Given the description of an element on the screen output the (x, y) to click on. 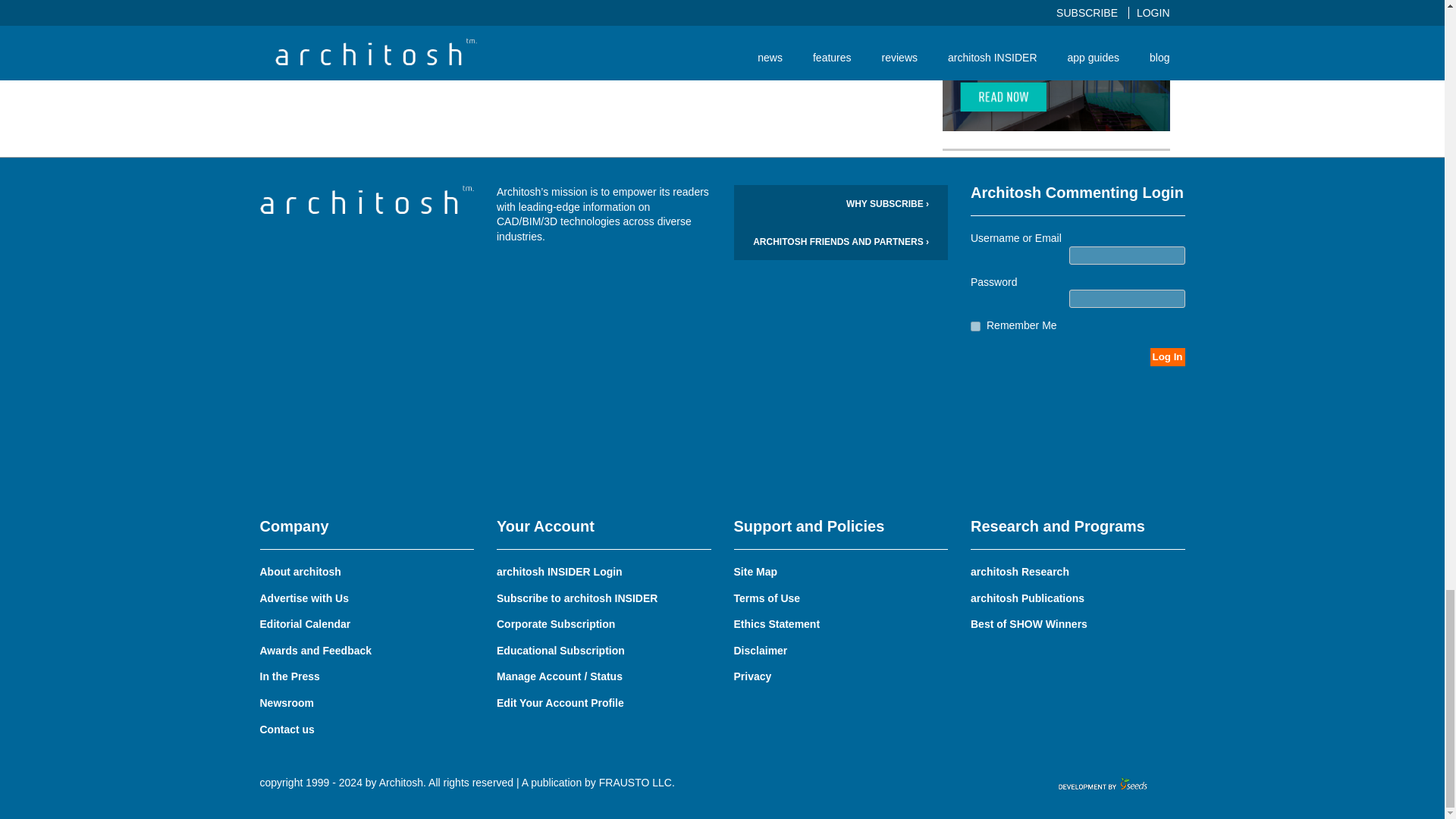
Log In (1167, 357)
forever (975, 326)
